Given the description of an element on the screen output the (x, y) to click on. 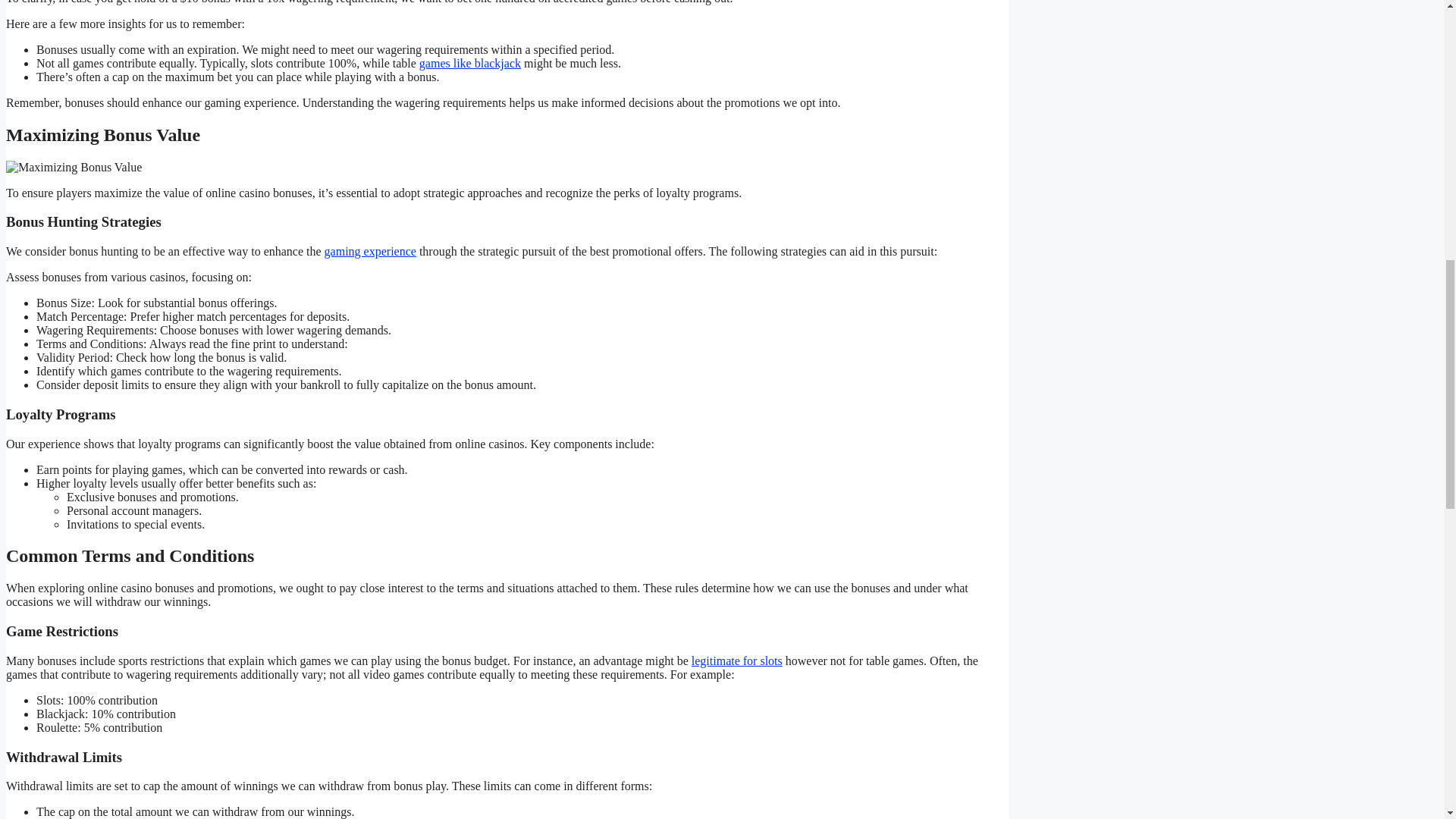
games like blackjack (470, 62)
gaming experience (370, 250)
legitimate for slots (737, 660)
